Given the description of an element on the screen output the (x, y) to click on. 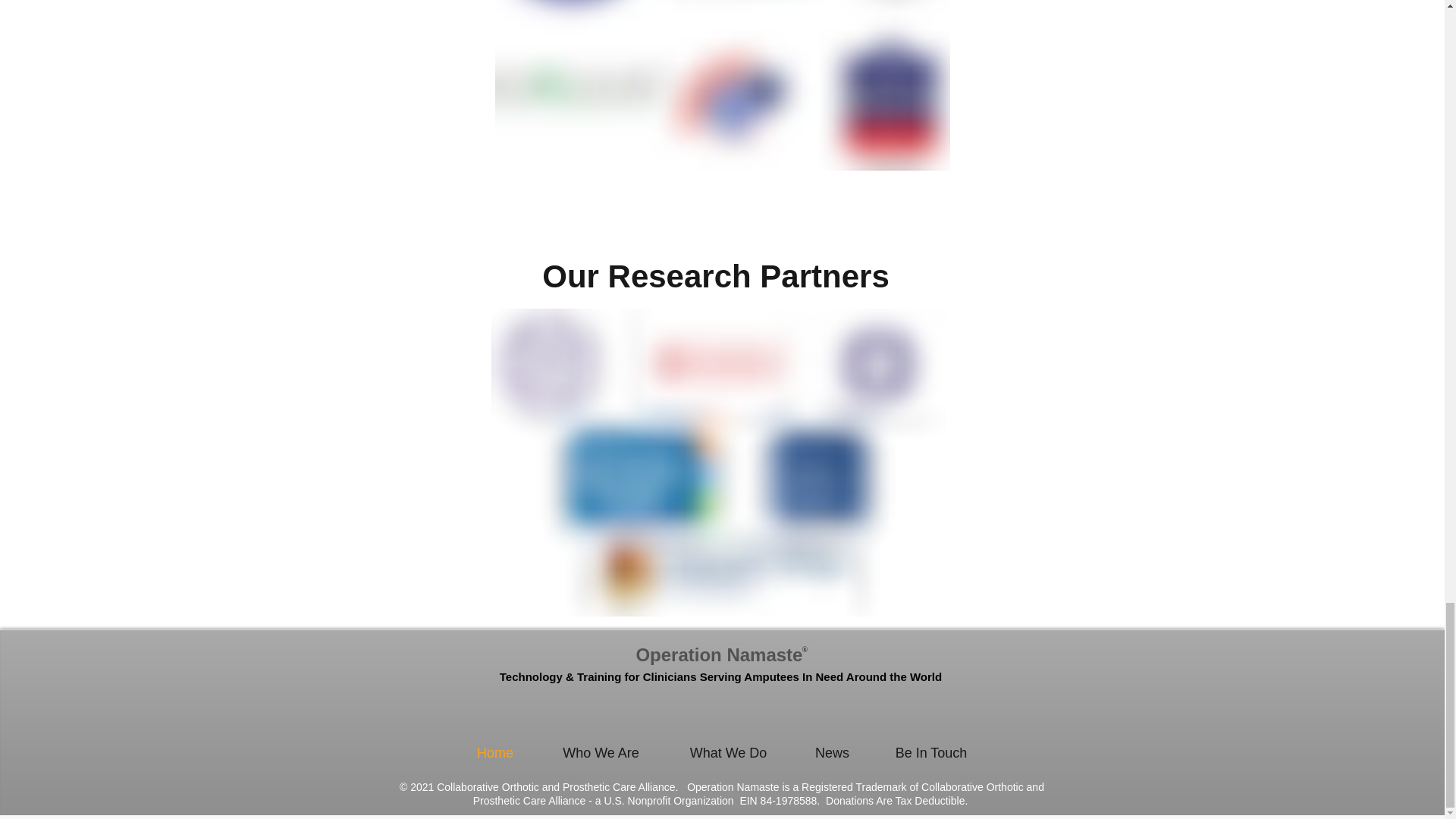
News (832, 752)
Who We Are (600, 752)
Be In Touch (931, 752)
What We Do (727, 752)
Home (494, 752)
Operation Namaste (718, 655)
